Given the description of an element on the screen output the (x, y) to click on. 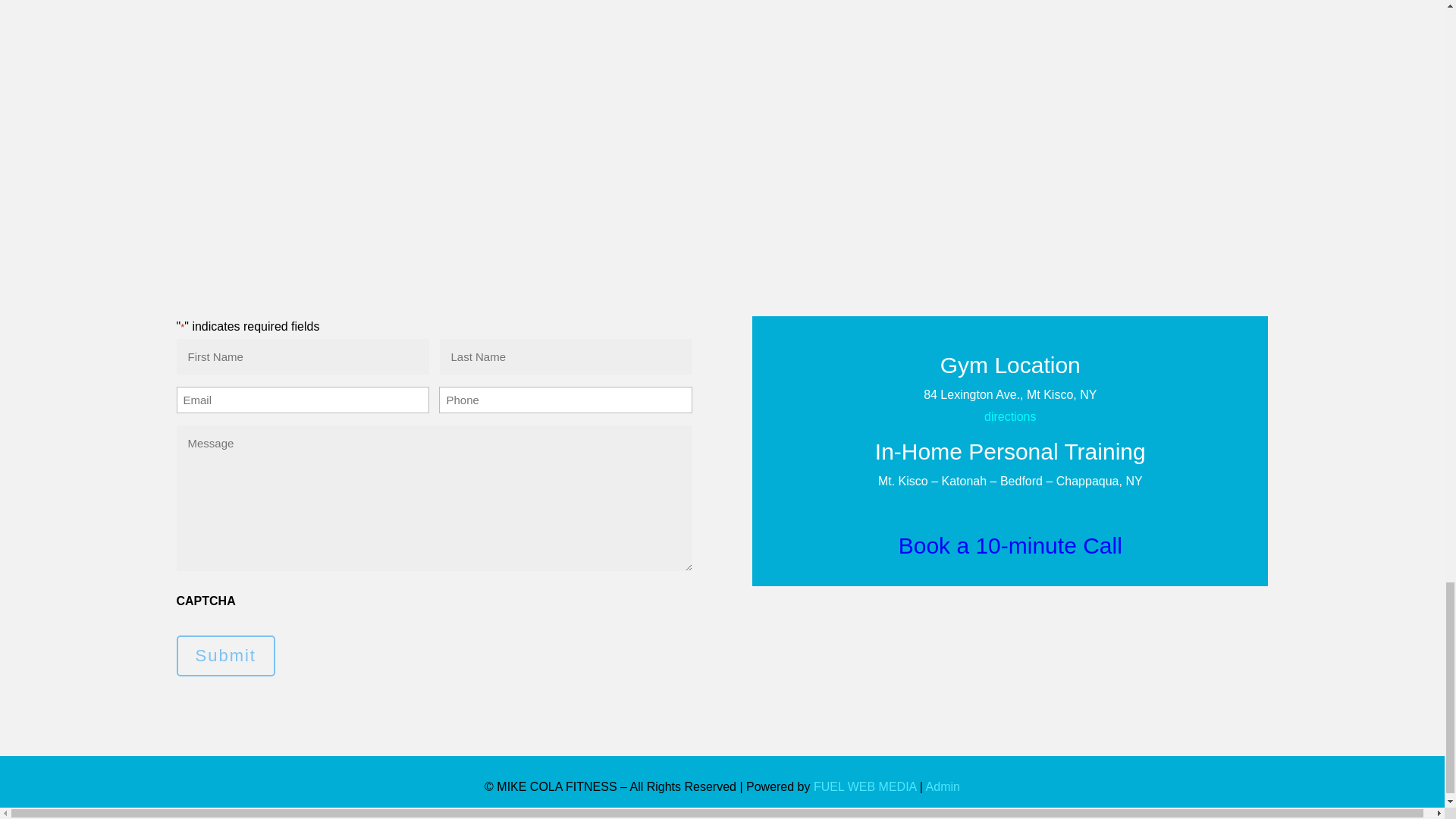
Submit (225, 655)
directions (1009, 416)
Submit (225, 655)
Conversion Focused Websites (864, 786)
FUEL WEB MEDIA (864, 786)
Book a 10-minute Call (1010, 545)
Admin (942, 786)
